Given the description of an element on the screen output the (x, y) to click on. 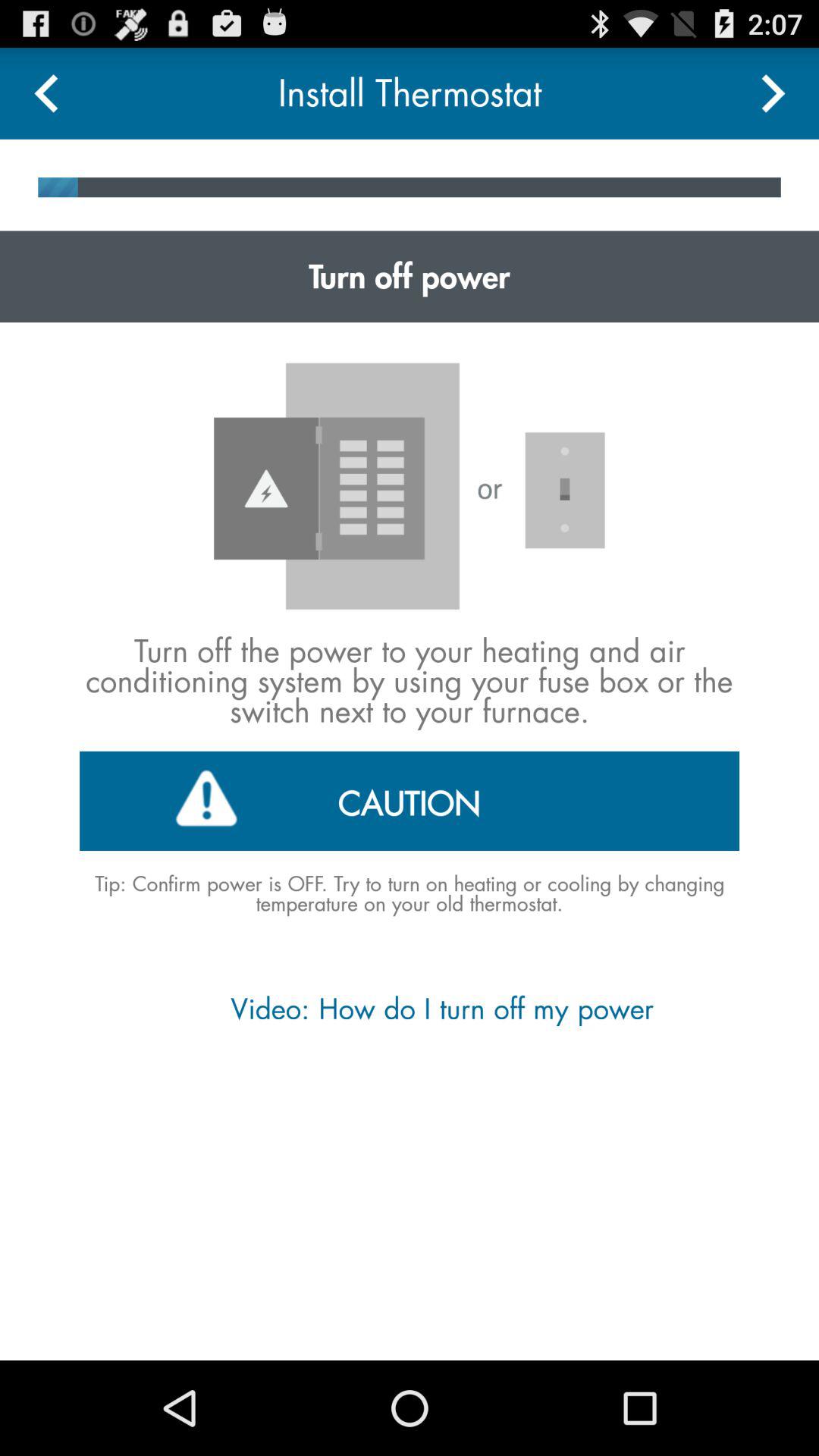
next (773, 93)
